Given the description of an element on the screen output the (x, y) to click on. 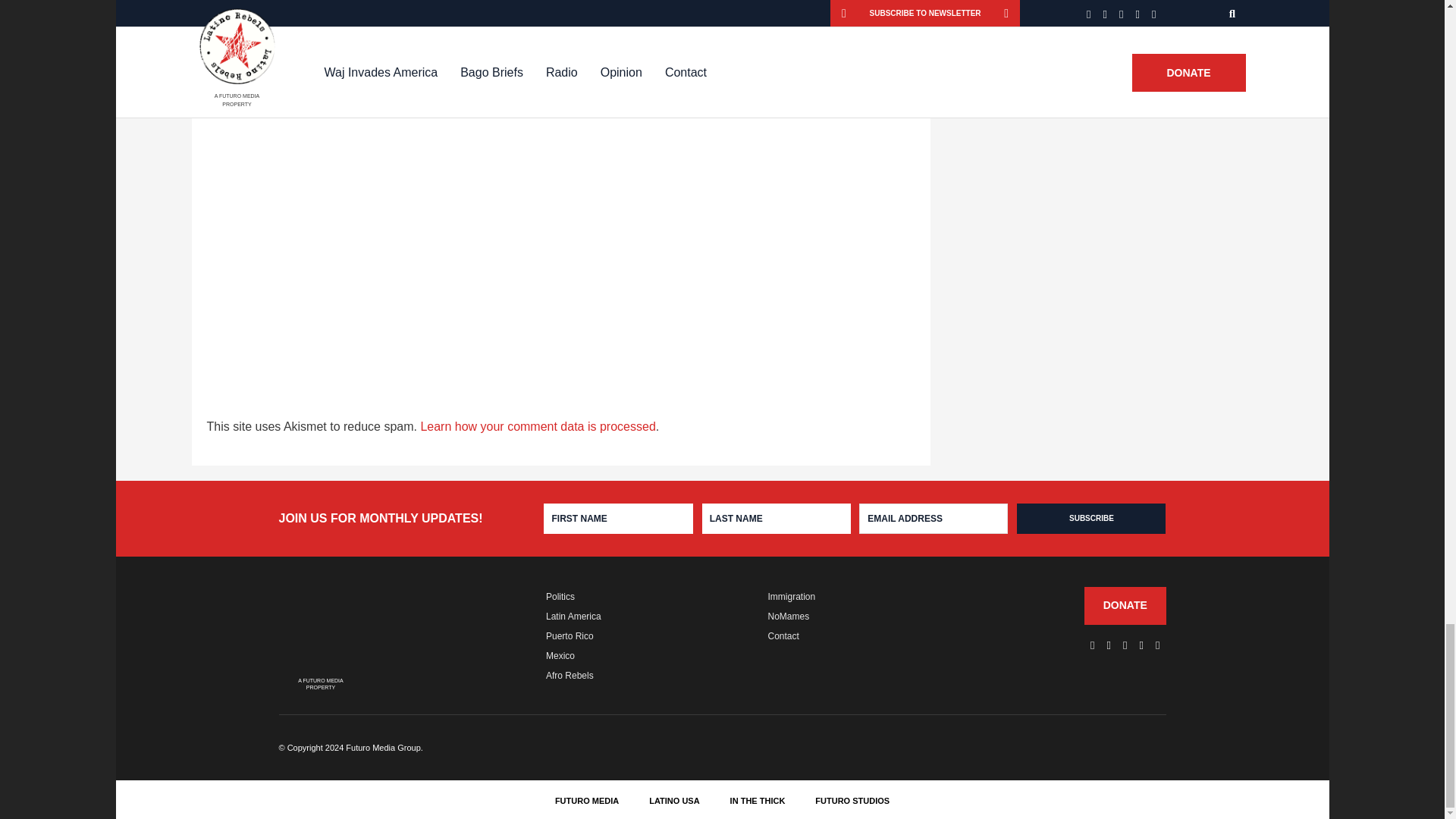
Subscribe (1091, 518)
